Given the description of an element on the screen output the (x, y) to click on. 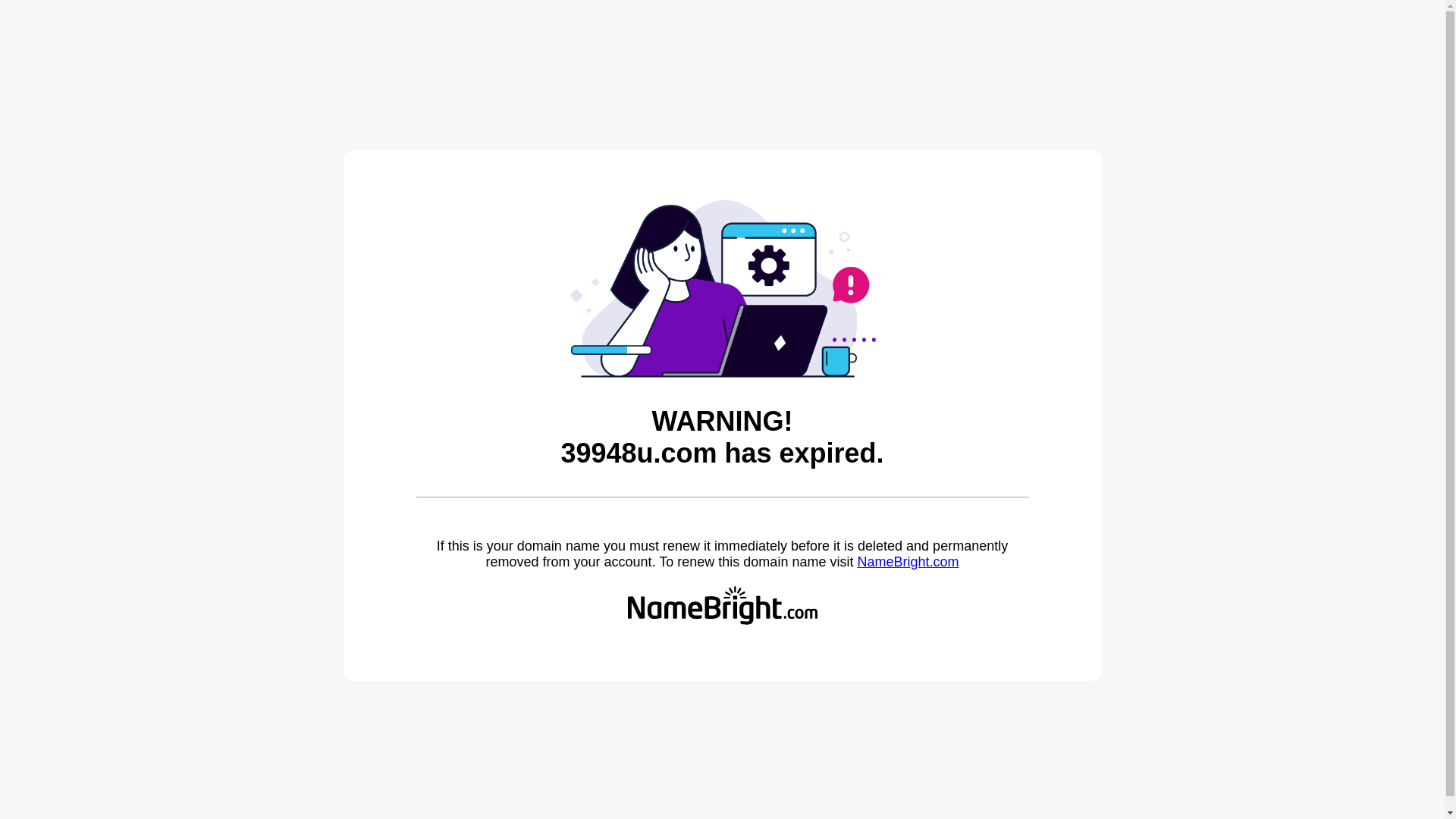
NameBright.com Element type: text (907, 561)
